Given the description of an element on the screen output the (x, y) to click on. 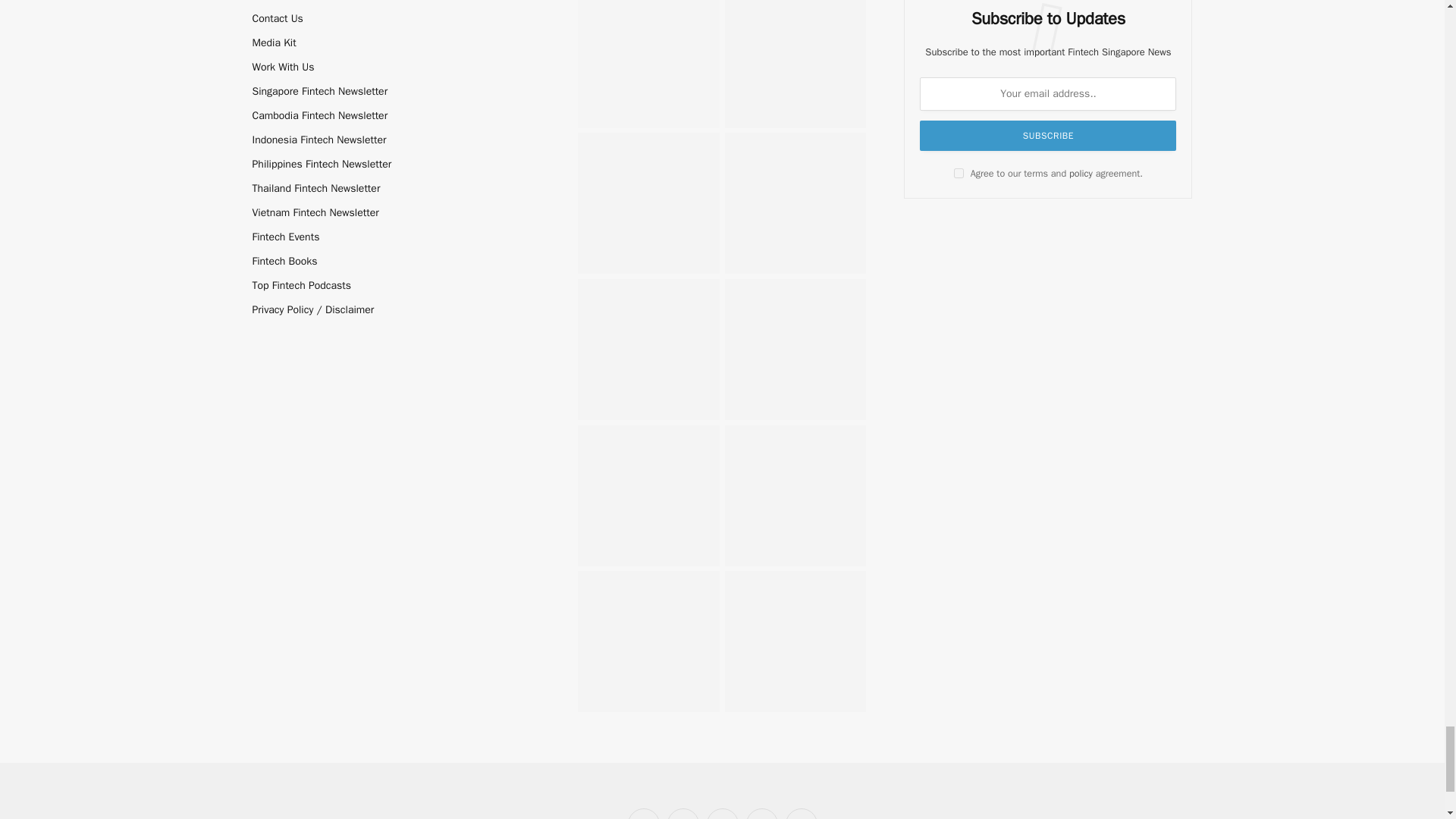
Subscribe (1048, 135)
on (958, 173)
